Given the description of an element on the screen output the (x, y) to click on. 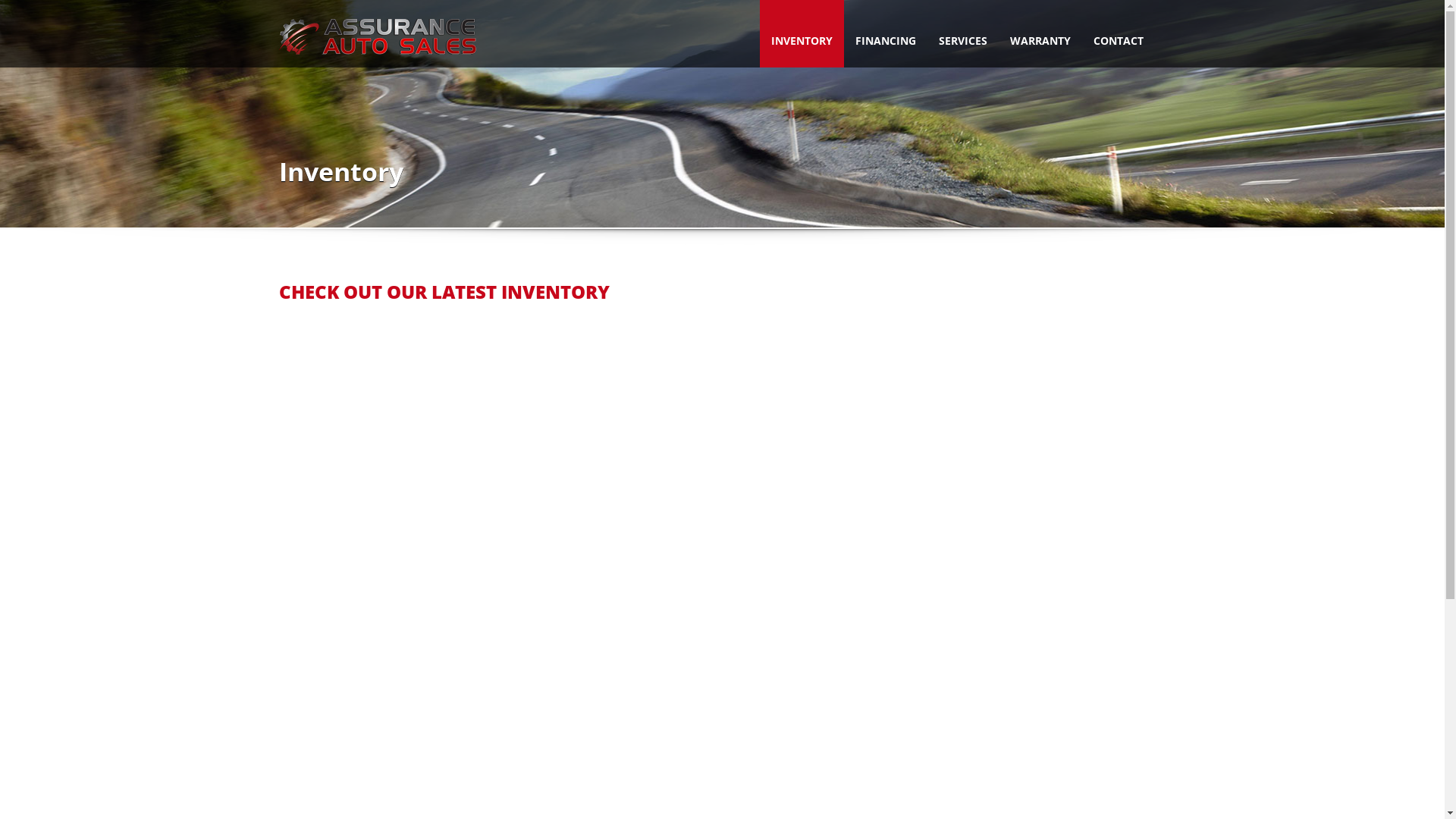
SERVICES Element type: text (961, 33)
INVENTORY Element type: text (801, 33)
FINANCING Element type: text (884, 33)
CONTACT Element type: text (1117, 33)
WARRANTY Element type: text (1039, 33)
